Given the description of an element on the screen output the (x, y) to click on. 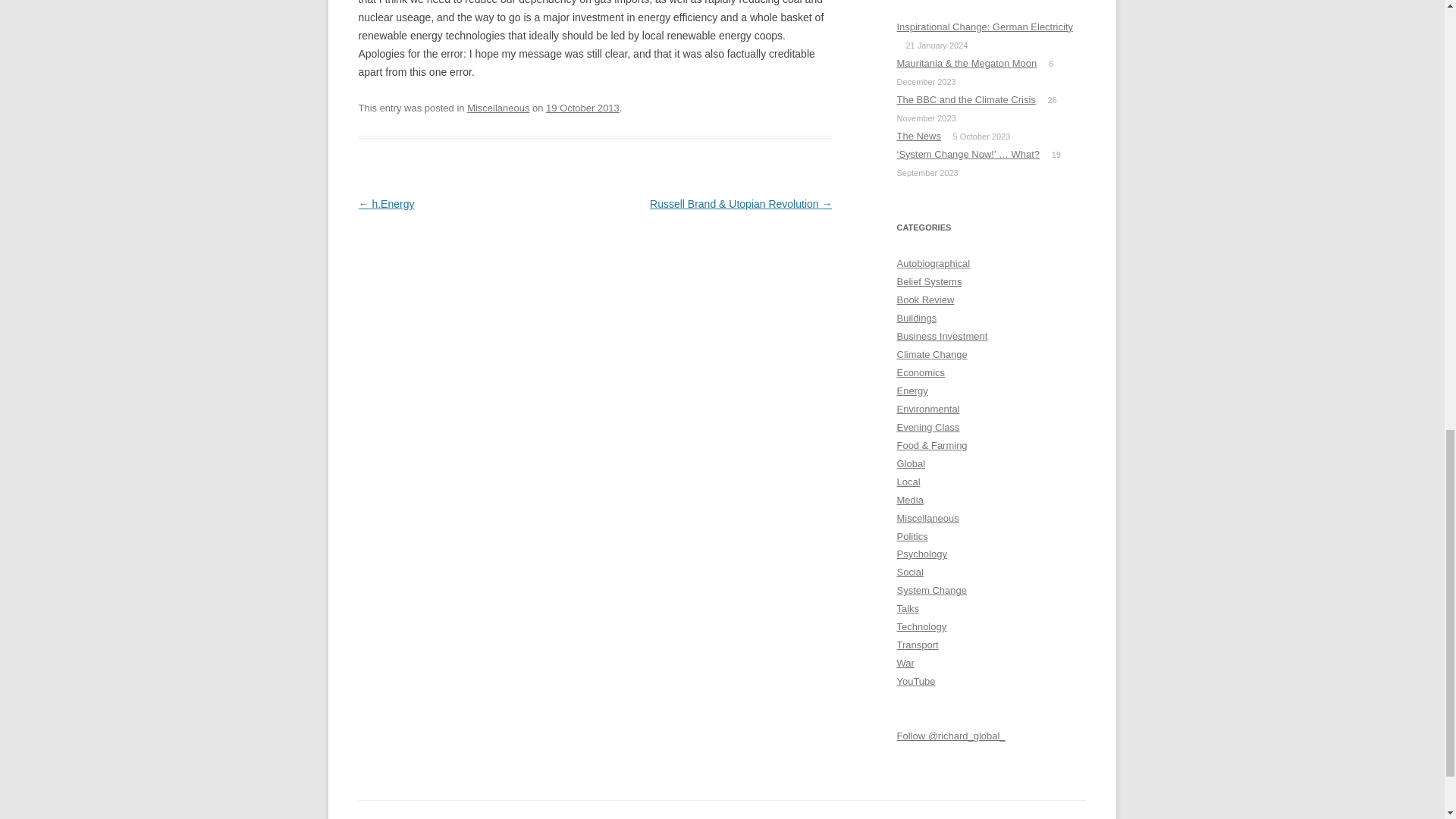
Global (910, 463)
Autobiographical (932, 263)
Inspirational Change: German Electricity (983, 26)
Environmental (927, 408)
Buildings (916, 317)
Book Review (924, 299)
Belief Systems (928, 281)
The News (918, 135)
Local (908, 481)
Miscellaneous (498, 107)
